Given the description of an element on the screen output the (x, y) to click on. 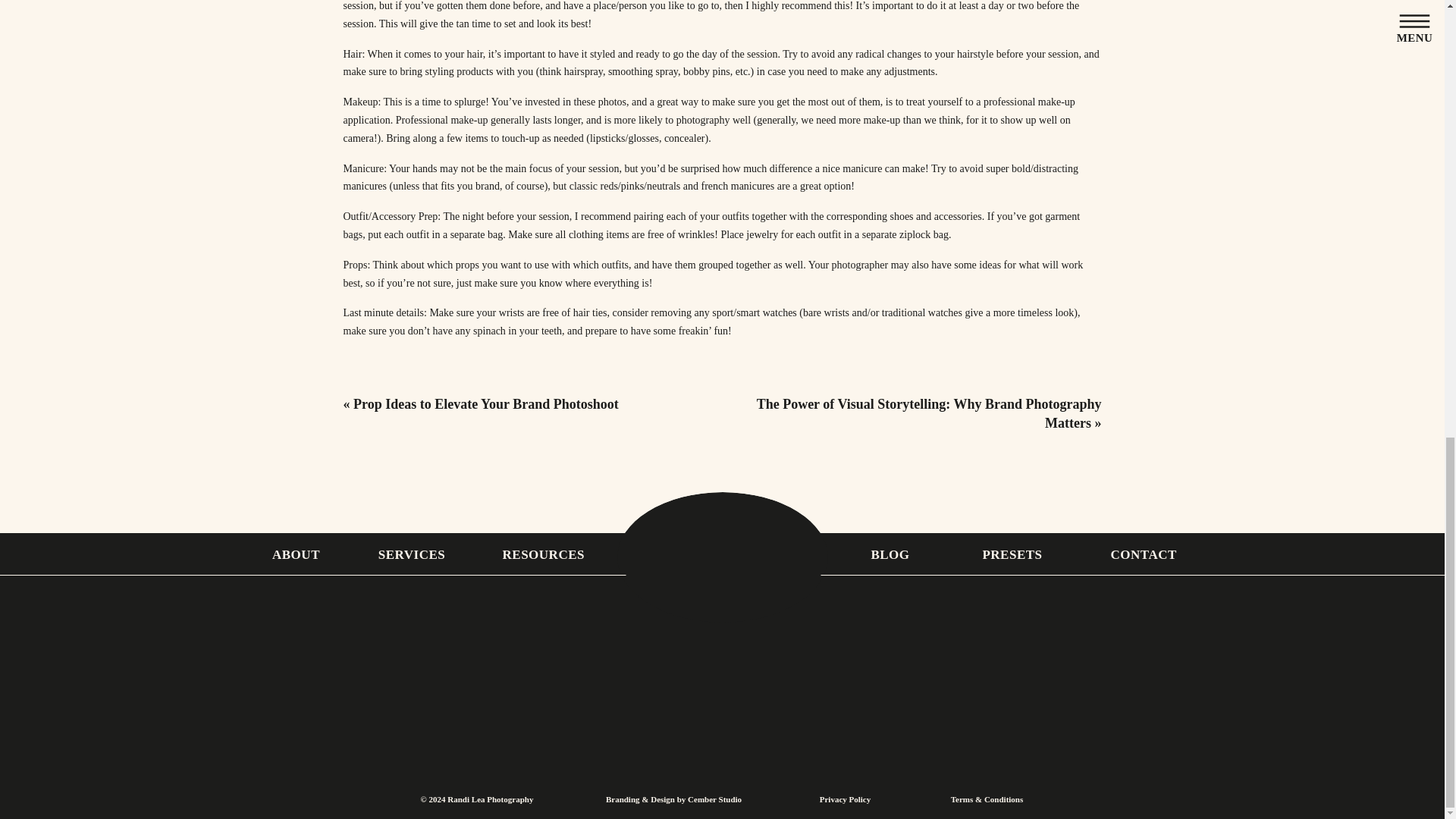
Prop Ideas to Elevate Your Brand Photoshoot (485, 403)
SERVICES (411, 554)
RESOURCES (540, 554)
BLOG (890, 554)
PRESETS (1011, 554)
Privacy Policy (844, 800)
ABOUT (295, 554)
CONTACT (1141, 554)
